Given the description of an element on the screen output the (x, y) to click on. 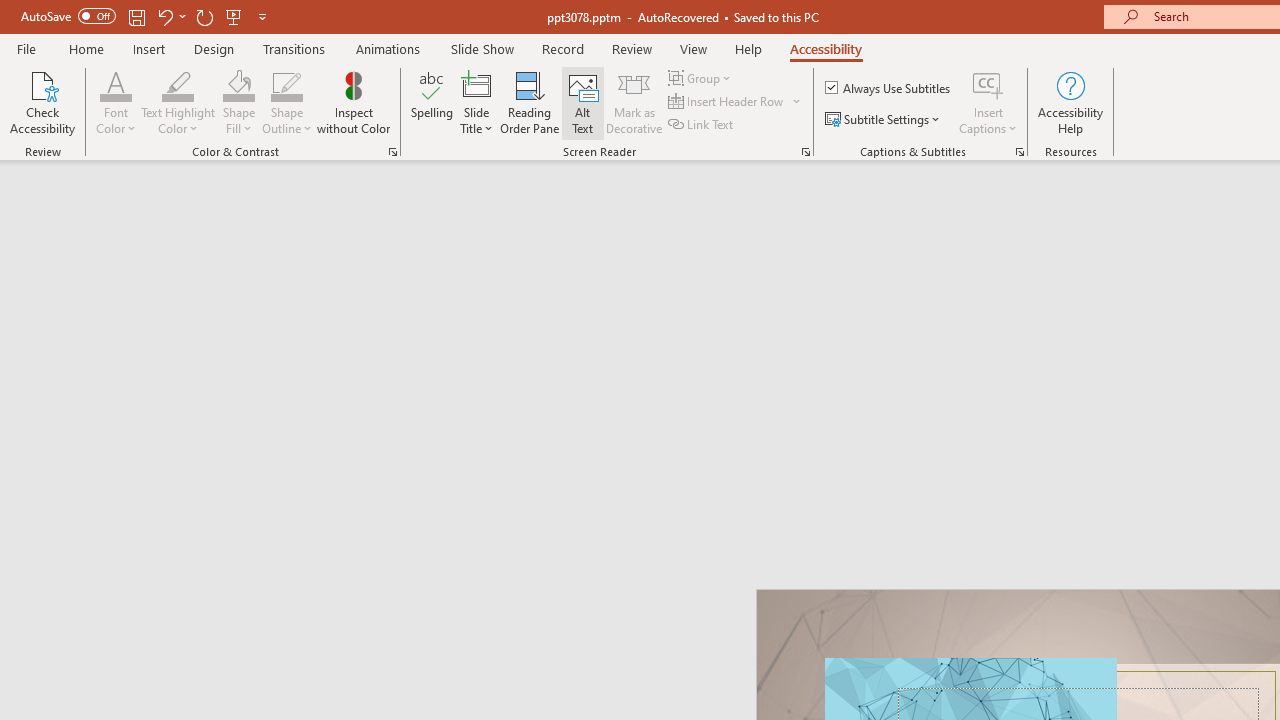
Color & Contrast (392, 151)
